Given the description of an element on the screen output the (x, y) to click on. 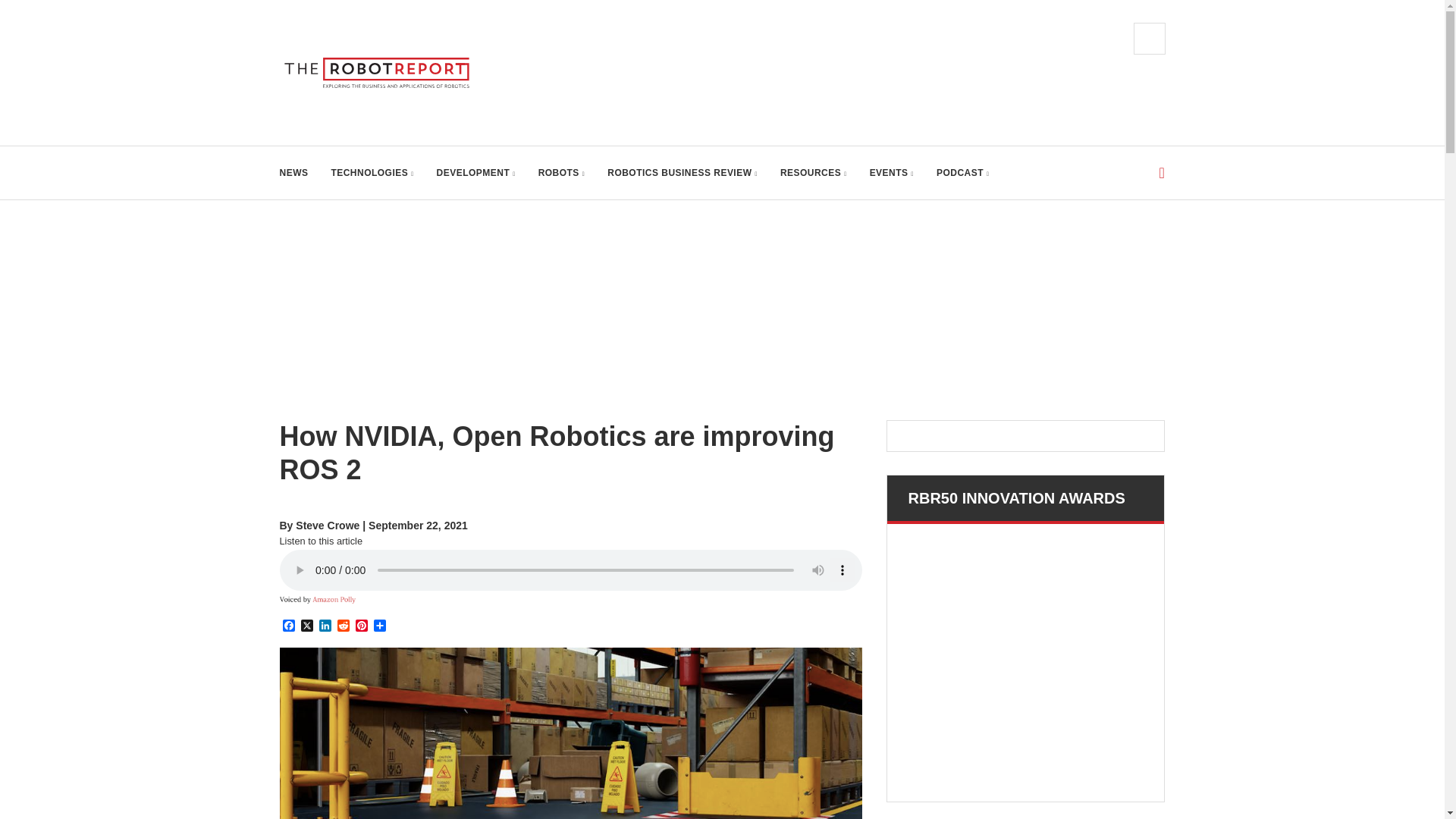
Facebook (288, 626)
Reddit (342, 626)
LinkedIn (324, 626)
ROBOTICS BUSINESS REVIEW (682, 172)
NEWS (293, 172)
X (306, 626)
DEVELOPMENT (475, 172)
The Robot Report (380, 72)
TECHNOLOGIES (371, 172)
Pinterest (360, 626)
ROBOTS (561, 172)
